Given the description of an element on the screen output the (x, y) to click on. 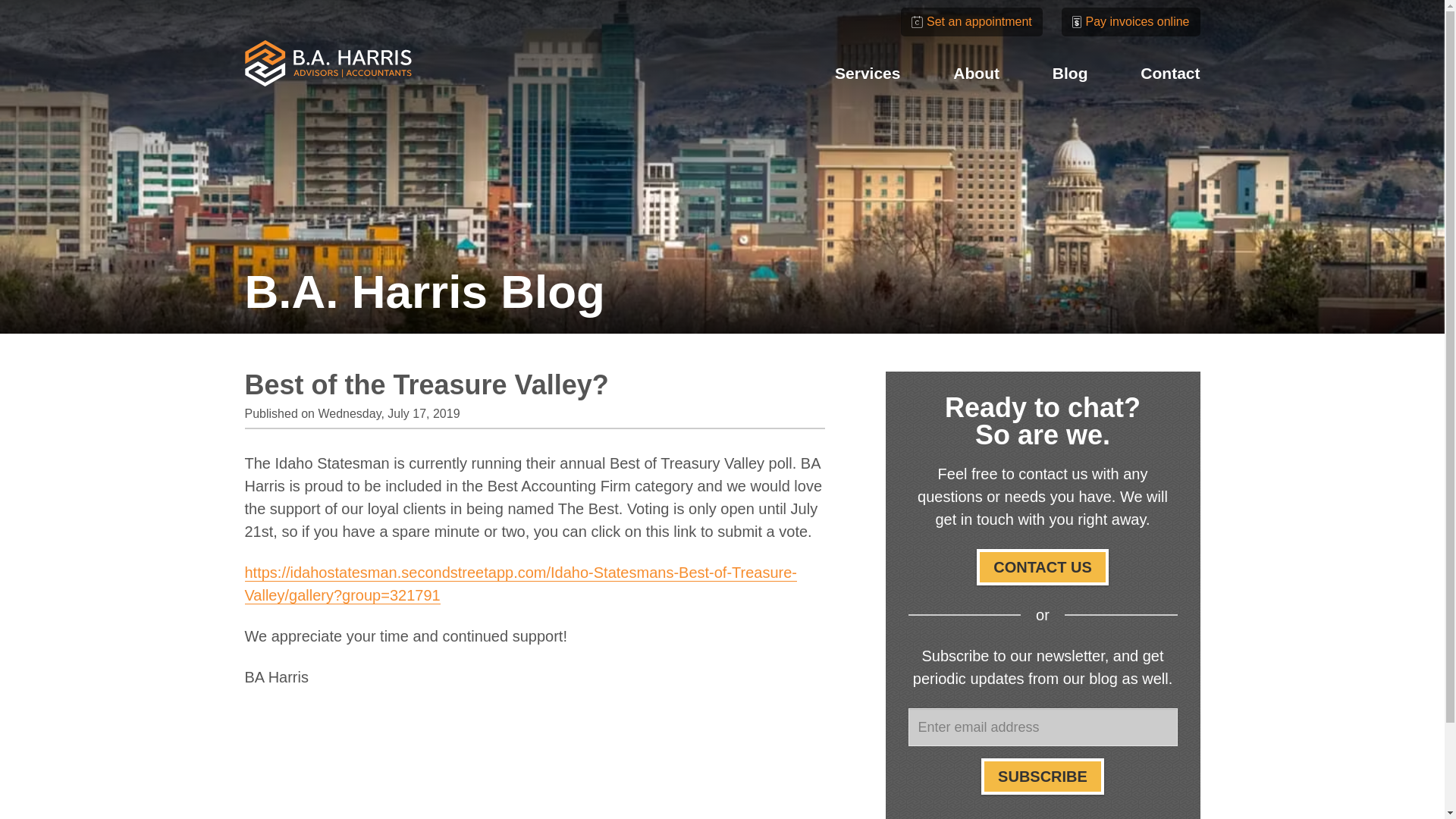
Services (866, 72)
Contact (1169, 72)
Subscribe (1042, 776)
About (975, 72)
CONTACT US (1042, 566)
Subscribe (1042, 776)
B.A. Harris Blog (424, 291)
Pay invoices online (1130, 22)
Set an appointment (970, 22)
Blog (1069, 72)
